Given the description of an element on the screen output the (x, y) to click on. 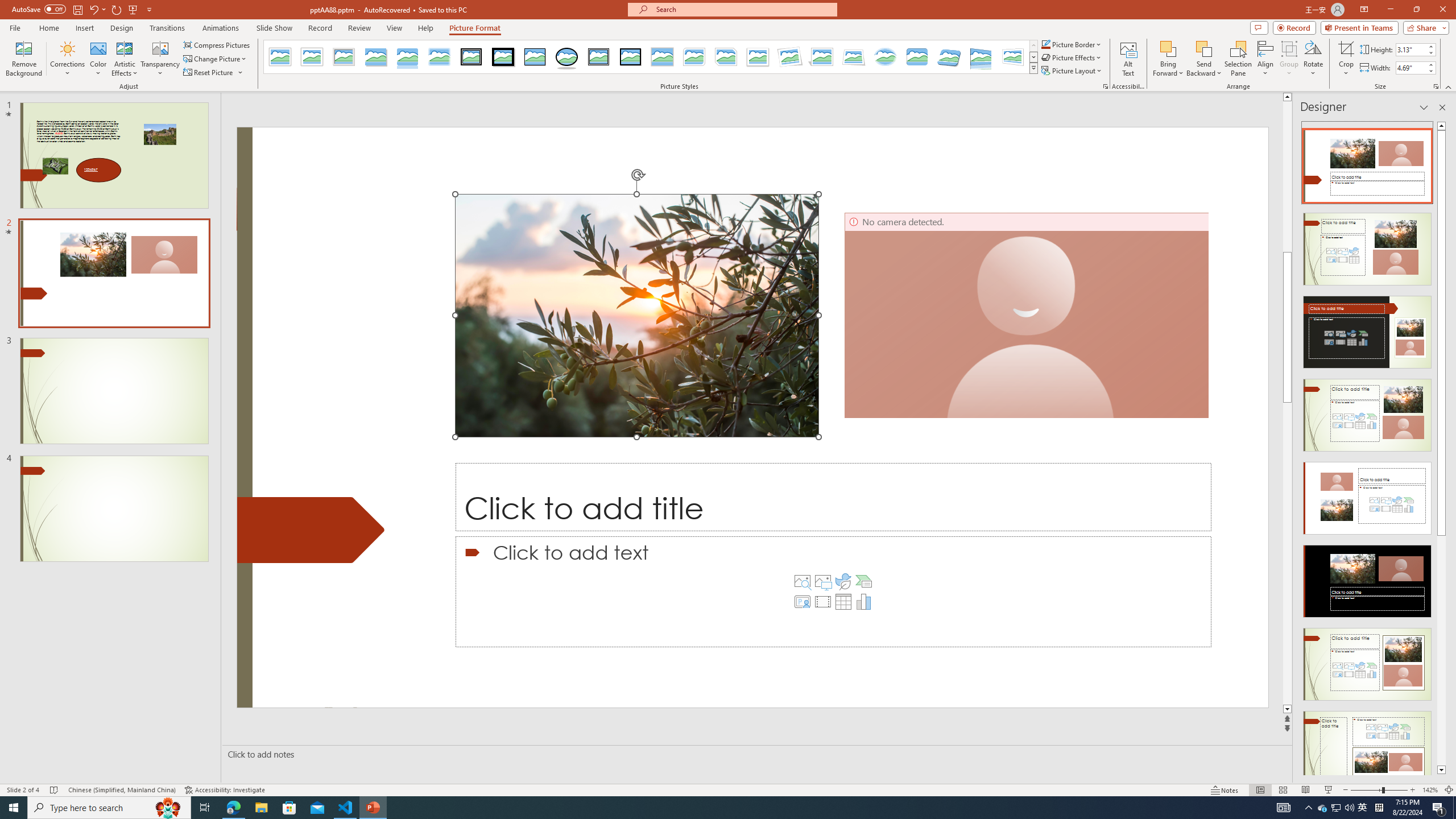
Rotated, White (790, 56)
Corrections (67, 58)
Crop (1345, 48)
Send Backward (1204, 48)
Artistic Effects (124, 58)
Reset Picture (208, 72)
Insert a SmartArt Graphic (863, 581)
Picture Border (1071, 44)
Class: NetUIScrollBar (1441, 447)
